Given the description of an element on the screen output the (x, y) to click on. 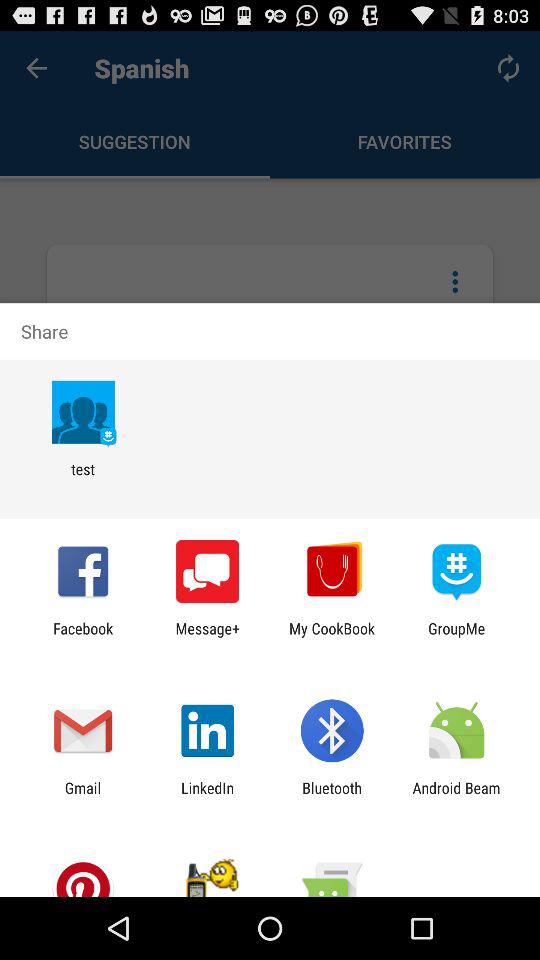
click the icon to the right of gmail item (207, 796)
